Given the description of an element on the screen output the (x, y) to click on. 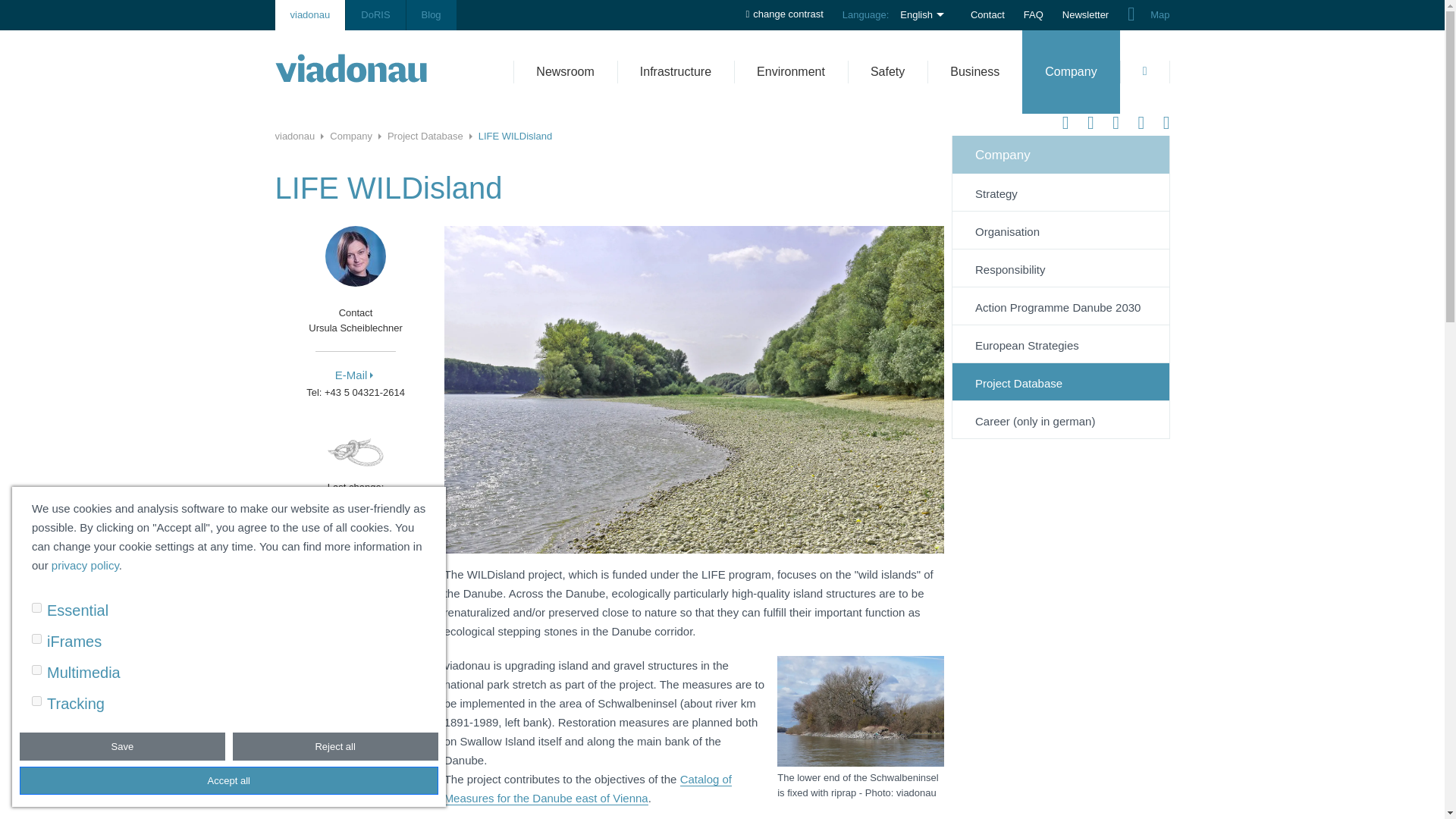
on (37, 669)
Multimedia (83, 672)
Accept all (229, 780)
iFrames (73, 641)
Tracking (75, 703)
change contrast (784, 9)
on (37, 638)
Save (122, 746)
on (37, 607)
DoRIS (375, 15)
viadonau (310, 15)
Essential (76, 610)
Reject all (335, 746)
Blog (431, 15)
on (37, 700)
